Given the description of an element on the screen output the (x, y) to click on. 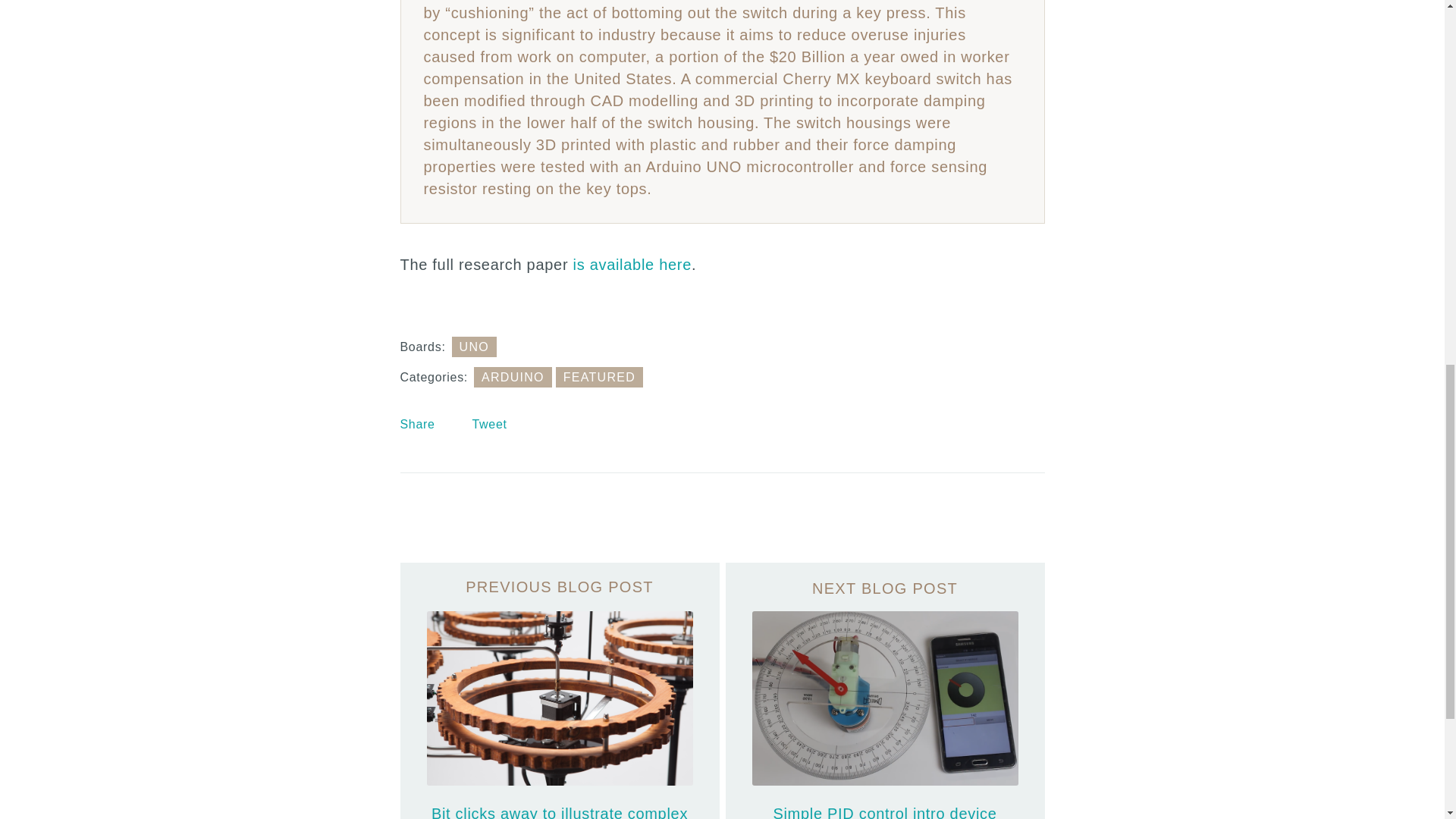
Bit clicks away to illustrate complex interrelationships (559, 690)
ARDUINO (512, 376)
Share (417, 424)
FEATURED (598, 376)
UNO (474, 346)
Simple PID control intro device (884, 690)
Tweet (488, 424)
is available here (632, 264)
